Given the description of an element on the screen output the (x, y) to click on. 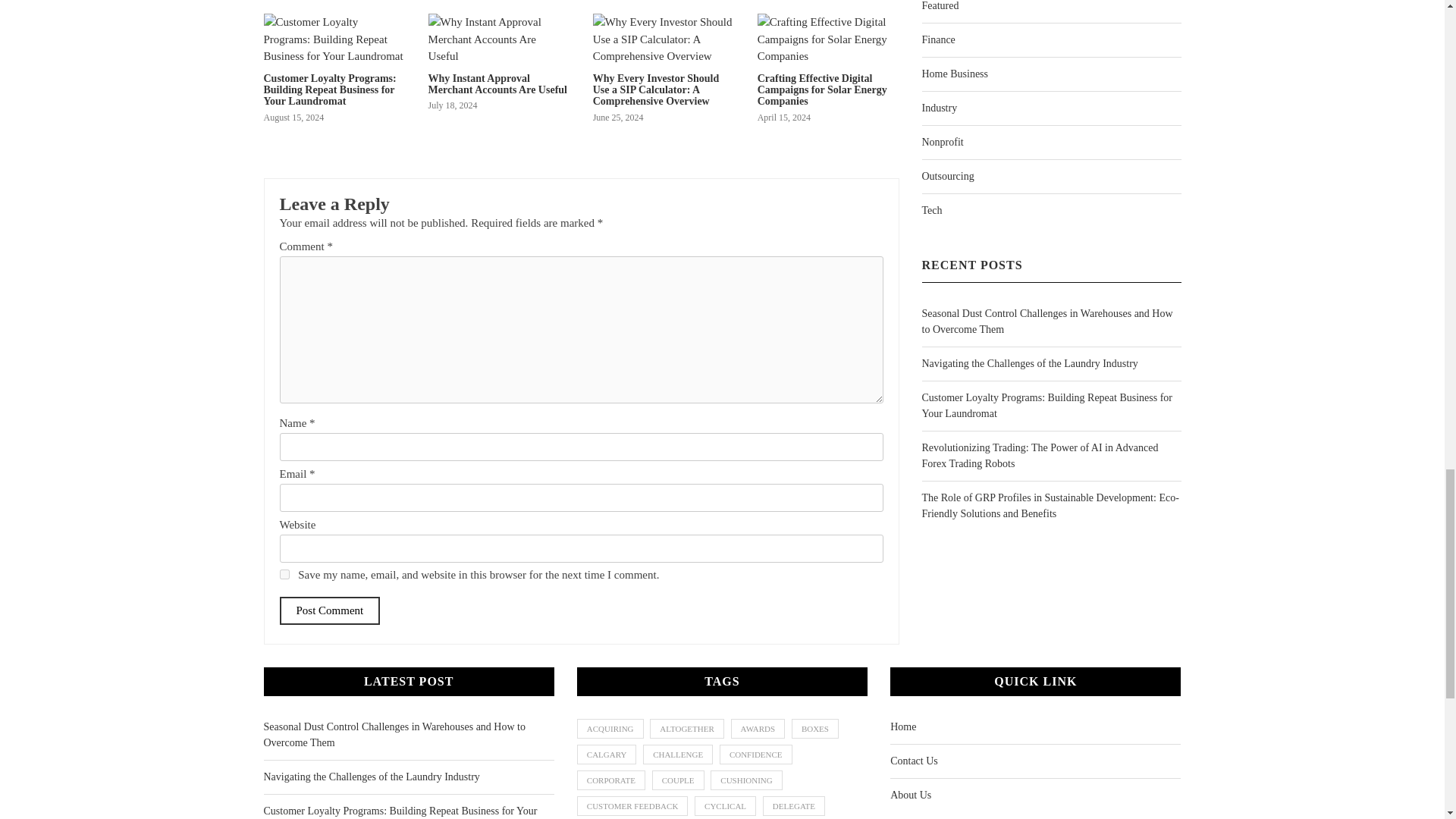
yes (283, 574)
Post Comment (329, 610)
Post Comment (329, 610)
Why Instant Approval Merchant Accounts Are Useful (497, 83)
